Given the description of an element on the screen output the (x, y) to click on. 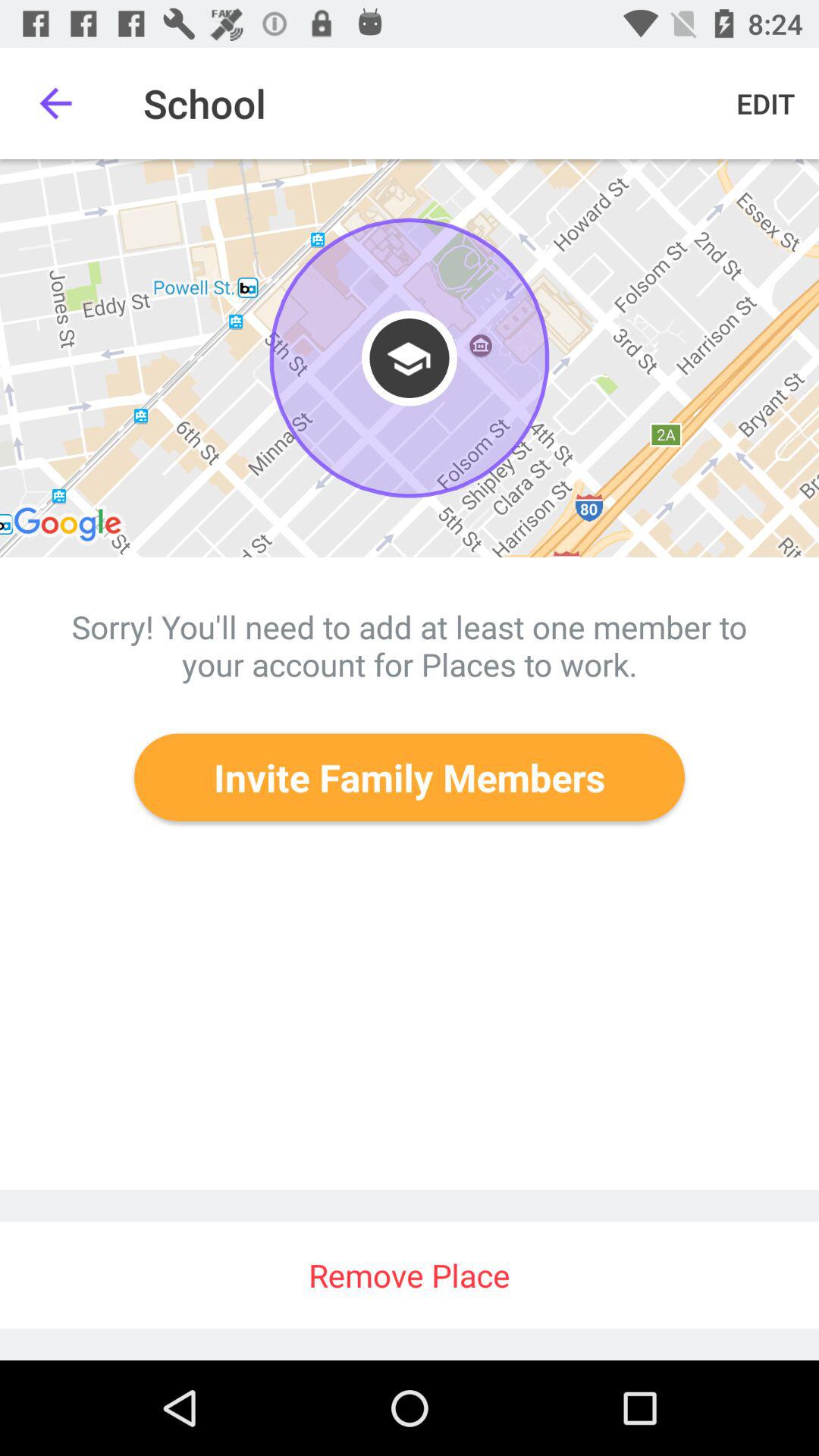
choose edit item (765, 103)
